Given the description of an element on the screen output the (x, y) to click on. 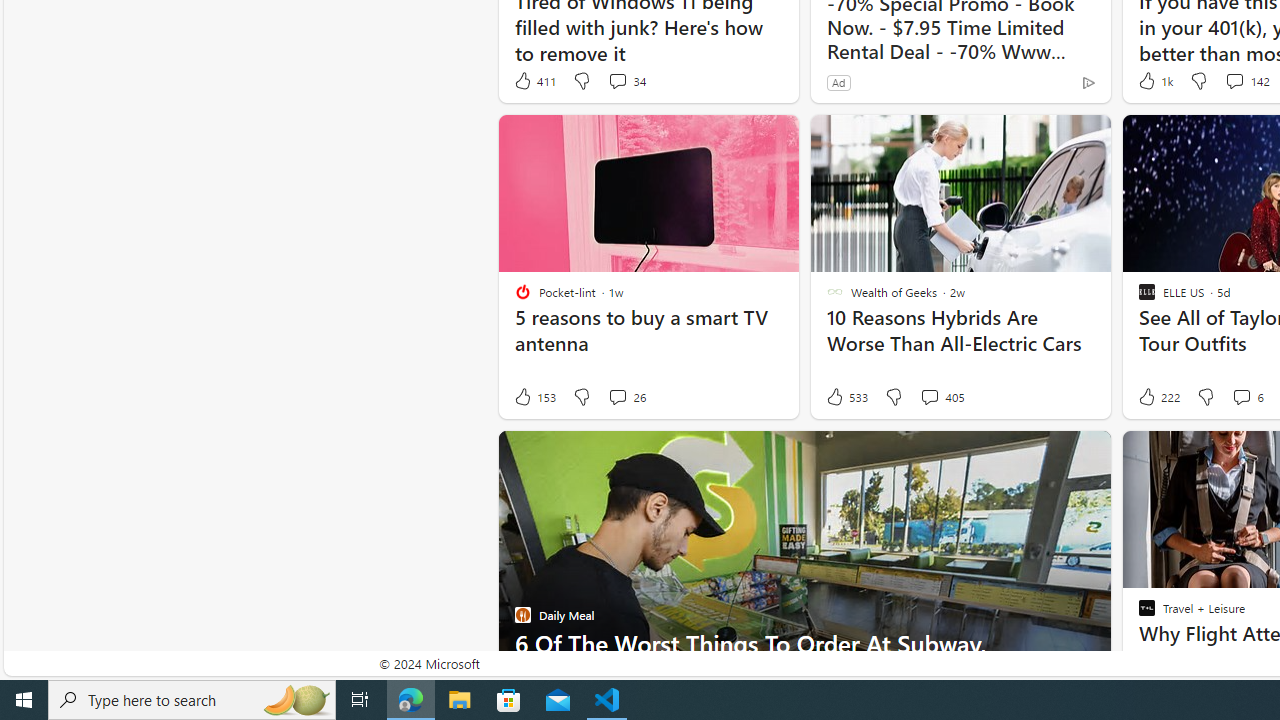
222 Like (1157, 397)
411 Like (534, 80)
View comments 34 Comment (617, 80)
View comments 405 Comment (929, 396)
View comments 6 Comment (1241, 396)
